Given the description of an element on the screen output the (x, y) to click on. 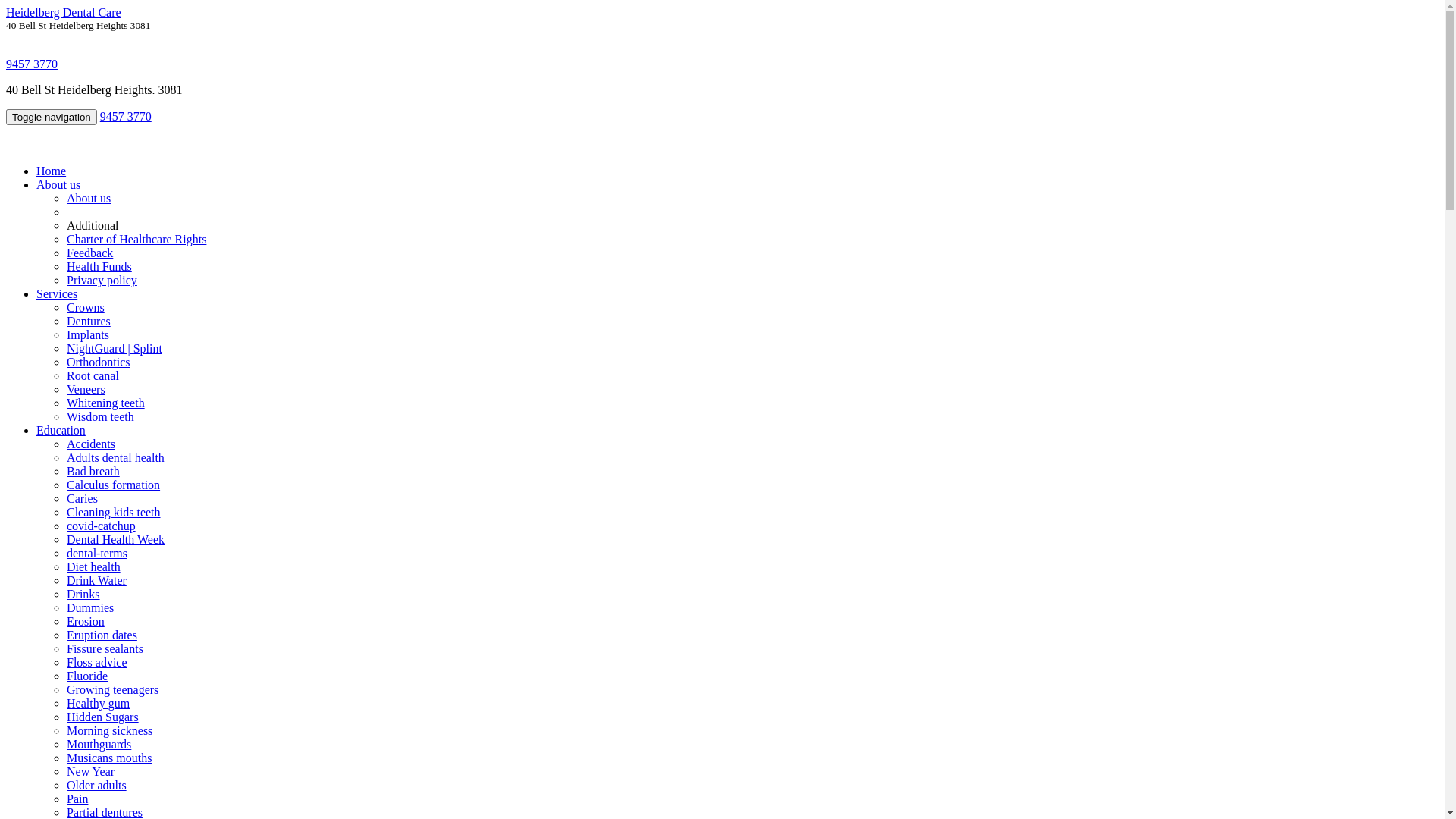
Home Element type: text (50, 170)
About us Element type: text (88, 197)
Education Element type: text (60, 429)
Dental Health Week Element type: text (115, 539)
Bad breath Element type: text (92, 470)
Charter of Healthcare Rights Element type: text (136, 238)
Services Element type: text (56, 293)
Hidden Sugars Element type: text (102, 716)
Heidelberg Dental Care Element type: text (63, 12)
Whitening teeth Element type: text (105, 402)
Implants Element type: text (87, 334)
Calculus formation Element type: text (113, 484)
NightGuard | Splint Element type: text (114, 348)
Orthodontics Element type: text (98, 361)
covid-catchup Element type: text (100, 525)
Feedback Element type: text (89, 252)
Veneers Element type: text (85, 388)
Eruption dates Element type: text (101, 634)
Dummies Element type: text (89, 607)
Mouthguards Element type: text (98, 743)
Privacy policy Element type: text (101, 279)
Accidents Element type: text (90, 443)
Wisdom teeth Element type: text (100, 416)
Crowns Element type: text (85, 307)
dental-terms Element type: text (96, 552)
Fluoride Element type: text (86, 675)
Erosion Element type: text (85, 621)
Fissure sealants Element type: text (104, 648)
About us Element type: text (58, 184)
Floss advice Element type: text (96, 661)
Toggle navigation Element type: text (51, 117)
Diet health Element type: text (93, 566)
Pain Element type: text (76, 798)
Drink Water Element type: text (96, 580)
Adults dental health Element type: text (115, 457)
Cleaning kids teeth Element type: text (113, 511)
Dentures Element type: text (88, 320)
Root canal Element type: text (92, 375)
Musicans mouths Element type: text (108, 757)
Morning sickness Element type: text (109, 730)
9457 3770 Element type: text (125, 115)
Drinks Element type: text (83, 593)
Caries Element type: text (81, 498)
9457 3770 Element type: text (31, 63)
Older adults Element type: text (96, 784)
Growing teenagers Element type: text (112, 689)
Health Funds Element type: text (98, 266)
New Year Element type: text (90, 771)
Healthy gum Element type: text (97, 702)
